Given the description of an element on the screen output the (x, y) to click on. 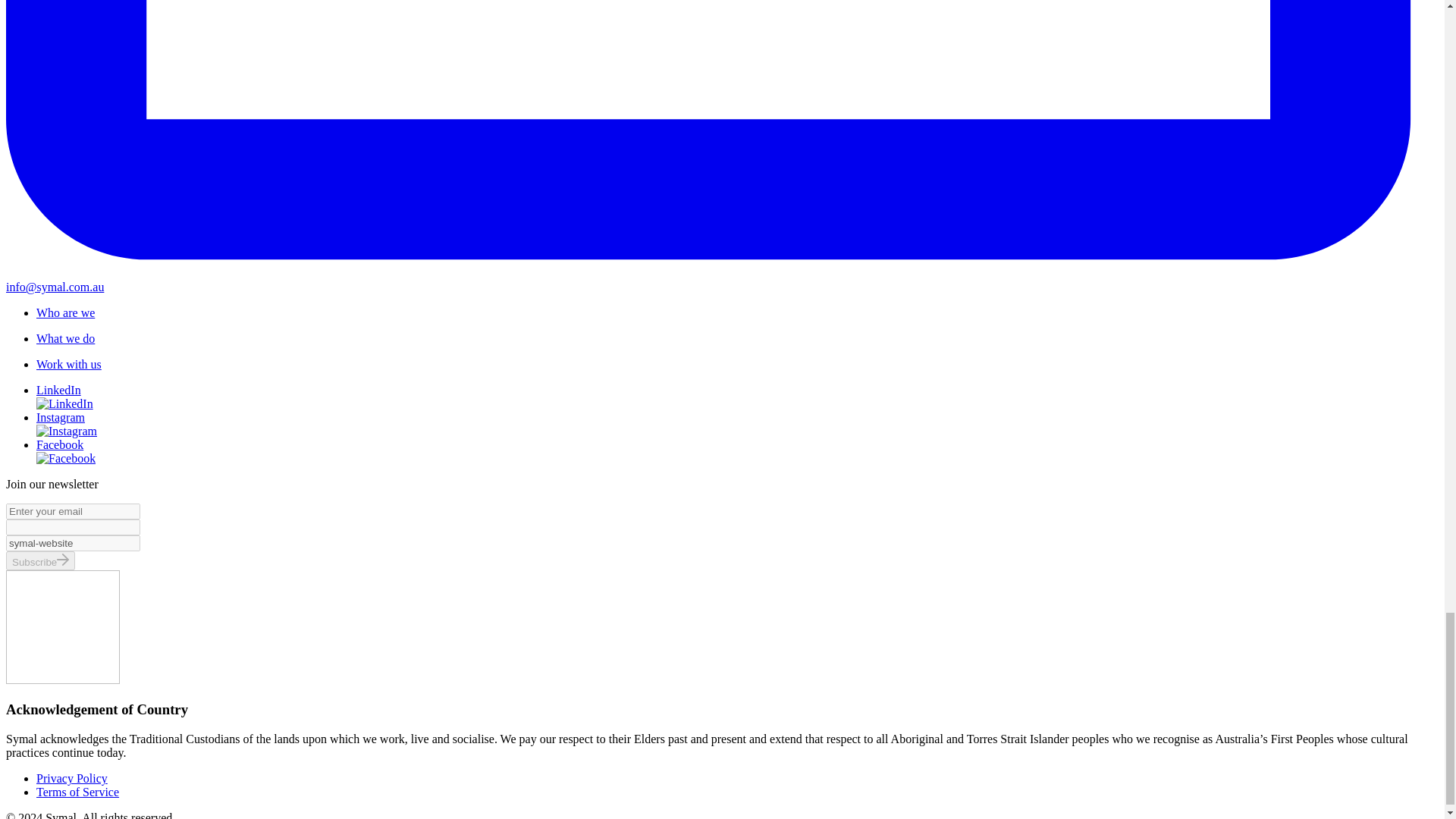
symal-website (72, 543)
